Given the description of an element on the screen output the (x, y) to click on. 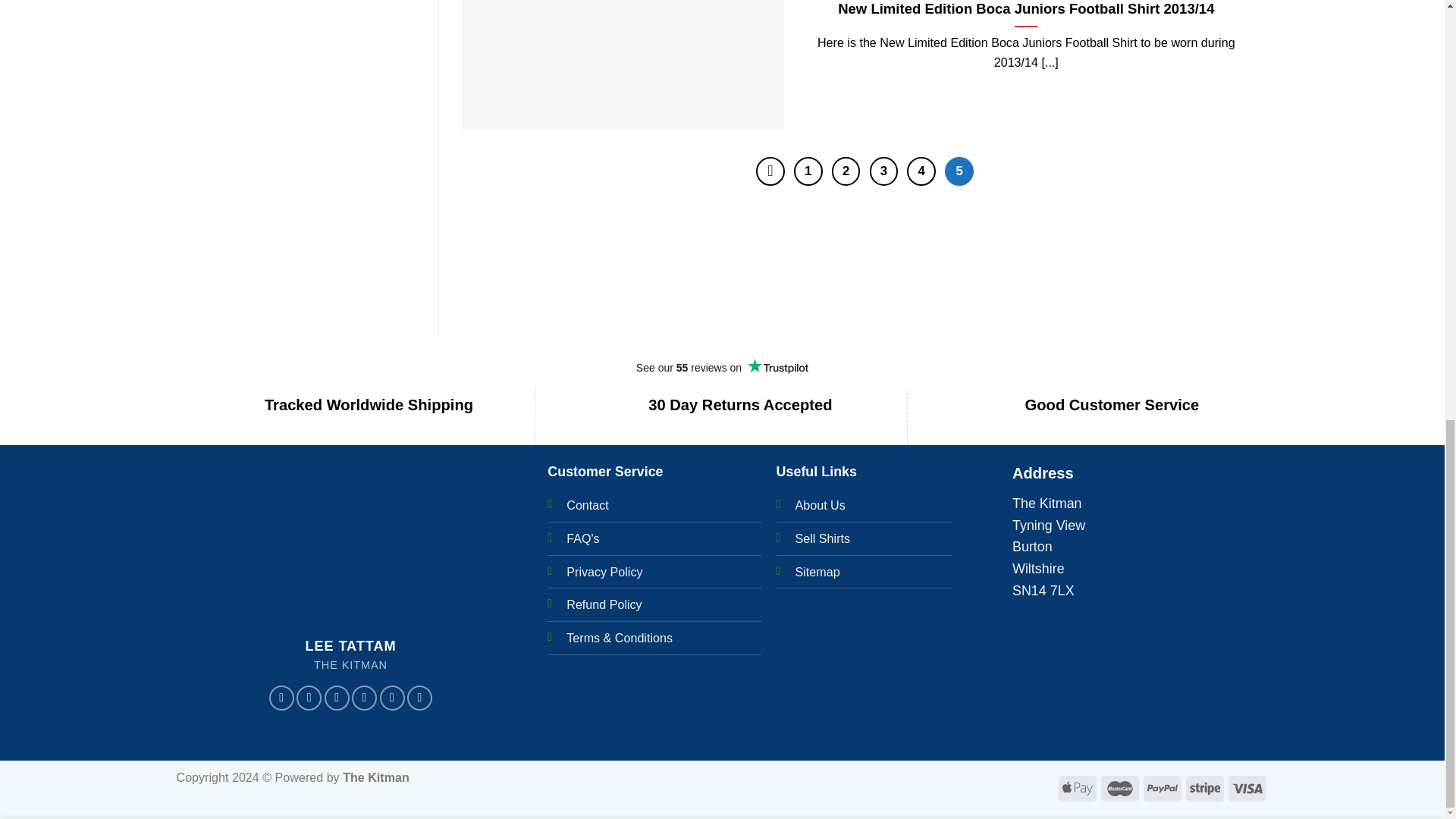
Follow on LinkedIn (419, 697)
Send us an email (364, 697)
Follow on Instagram (309, 697)
Call us (391, 697)
Follow on Facebook (281, 697)
Follow on Twitter (336, 697)
